Given the description of an element on the screen output the (x, y) to click on. 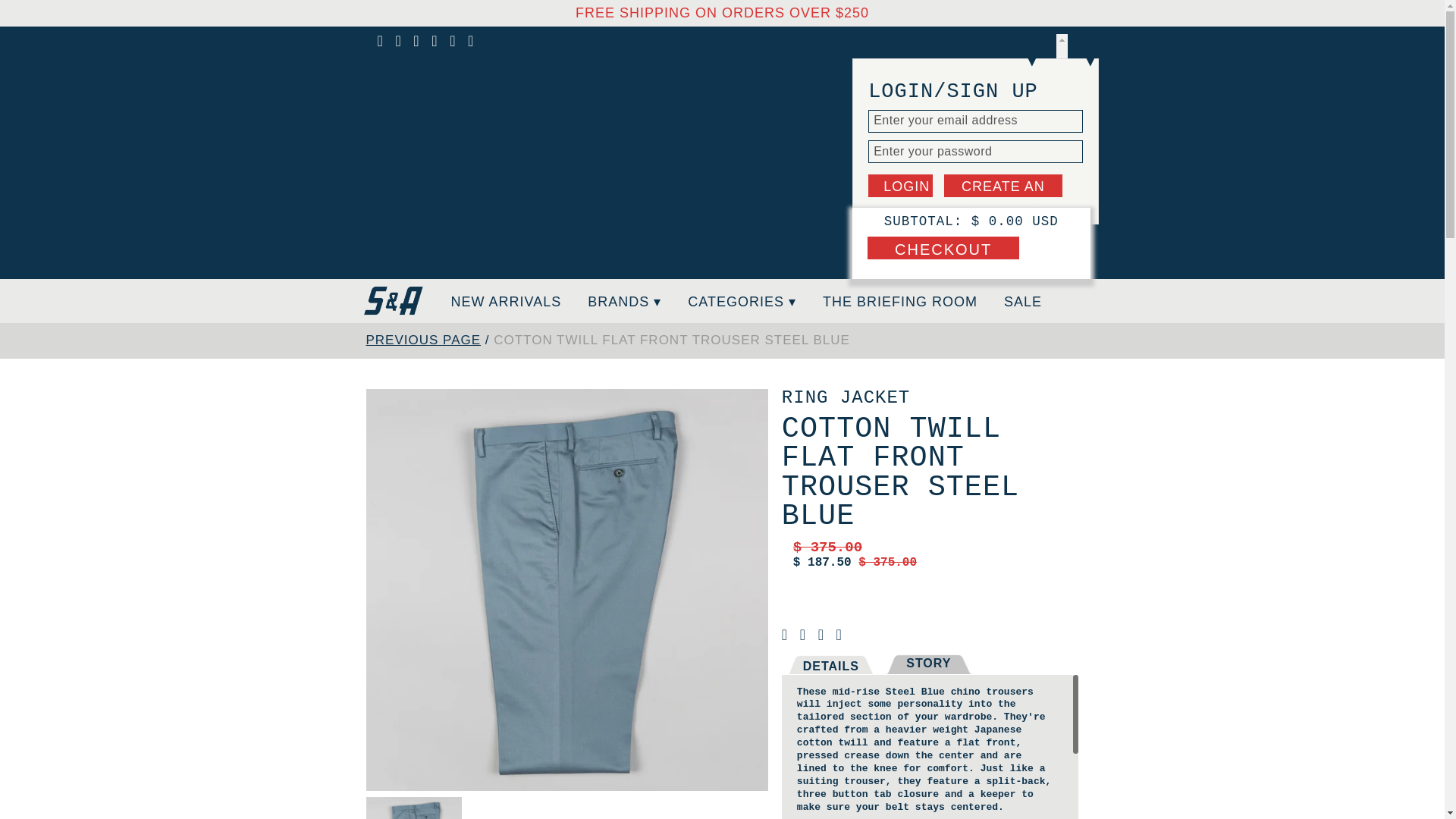
MY CART (1020, 264)
LOGIN (900, 185)
New Arrivals (504, 300)
NEW ARRIVALS (504, 300)
LOGIN (900, 185)
ACCOUNT (941, 265)
CHECKOUT (943, 247)
Brands (624, 300)
CHECKOUT (943, 247)
Shopping Cart (1020, 264)
CREATE AN ACCOUNT (1002, 185)
